Given the description of an element on the screen output the (x, y) to click on. 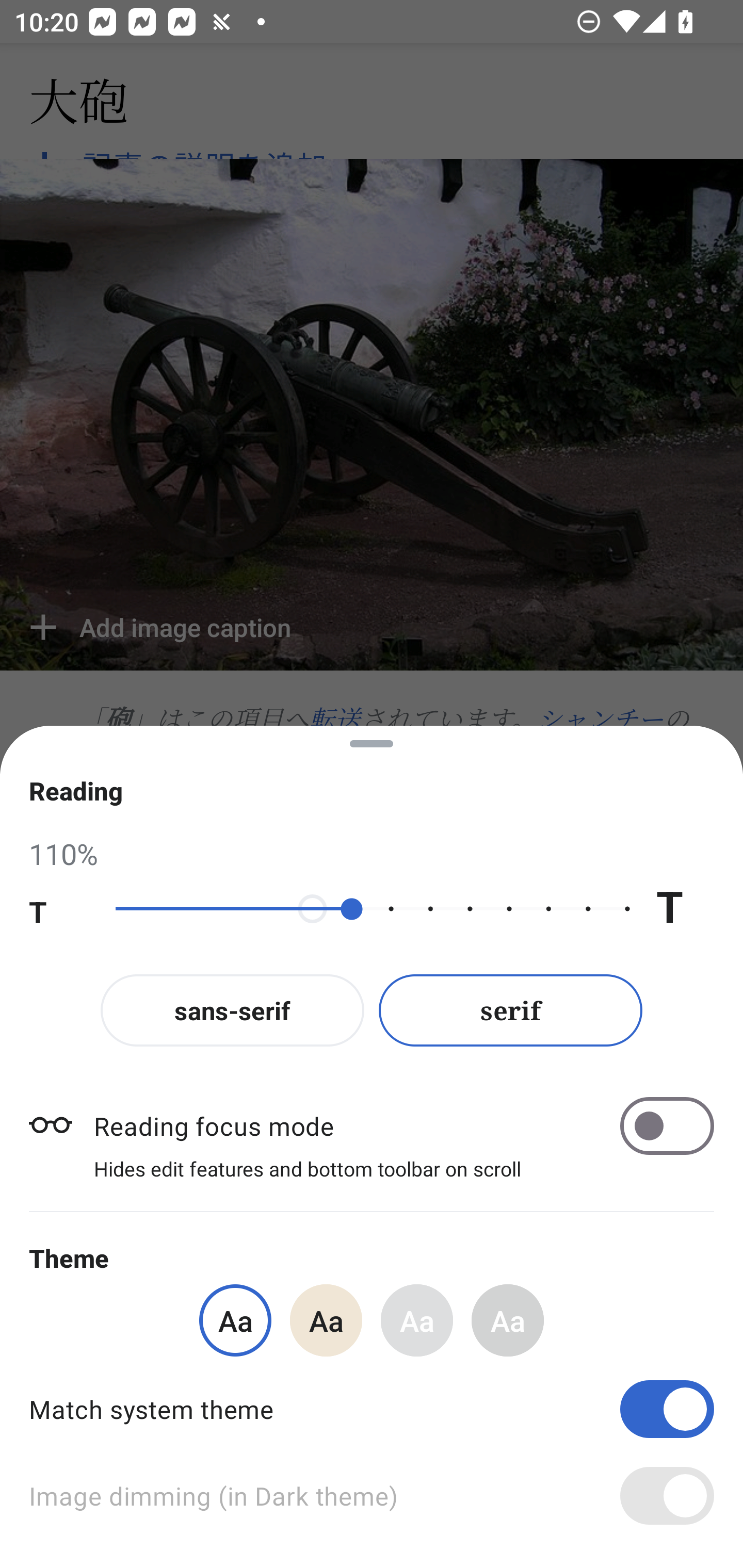
T Decrease text size (57, 909)
T Increase text size (685, 909)
sans-serif (232, 1010)
serif (510, 1010)
Reading focus mode (403, 1125)
Aa (325, 1320)
Aa (416, 1320)
Aa (507, 1320)
Match system theme (371, 1408)
Image dimming (in Dark theme) (371, 1495)
